Given the description of an element on the screen output the (x, y) to click on. 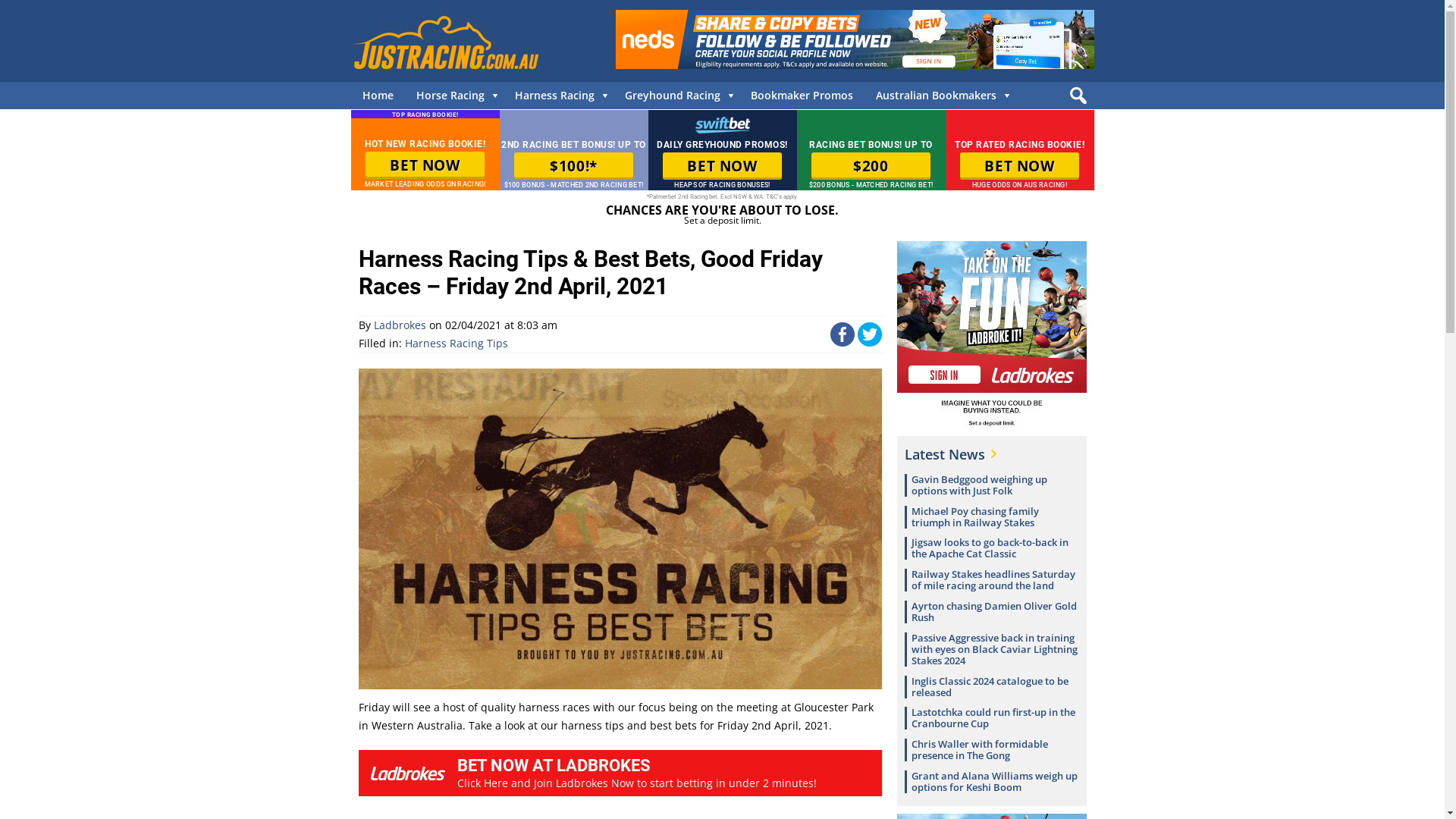
advertisement Element type: hover (854, 39)
BET NOW Element type: text (1019, 165)
Harness Racing Tips Element type: text (456, 342)
Harness Racing Element type: text (558, 95)
advertisement Element type: hover (990, 335)
Home Element type: text (377, 95)
Jigsaw looks to go back-to-back in the Apache Cat Classic Element type: text (989, 547)
Bookmaker Promos Element type: text (800, 95)
BET NOW Element type: text (721, 165)
Michael Poy chasing family triumph in Railway Stakes Element type: text (974, 516)
Horse Racing Element type: text (453, 95)
Tweet Element type: hover (868, 342)
Greyhound Racing Element type: text (675, 95)
Grant and Alana Williams weigh up options for Keshi Boom Element type: text (994, 780)
BET NOW Element type: text (424, 164)
Lastotchka could run first-up in the Cranbourne Cup Element type: text (993, 717)
Ayrton chasing Damien Oliver Gold Rush Element type: text (993, 611)
Chris Waller with formidable presence in The Gong Element type: text (979, 749)
Inglis Classic 2024 catalogue to be released Element type: text (989, 686)
$100!* Element type: text (573, 165)
Latest News Element type: text (949, 454)
Australian Bookmakers Element type: text (939, 95)
Ladbrokes Element type: text (399, 324)
Just Racing Element type: hover (444, 42)
Gavin Bedggood weighing up options with Just Folk Element type: text (979, 484)
$200 Element type: text (870, 165)
